Given the description of an element on the screen output the (x, y) to click on. 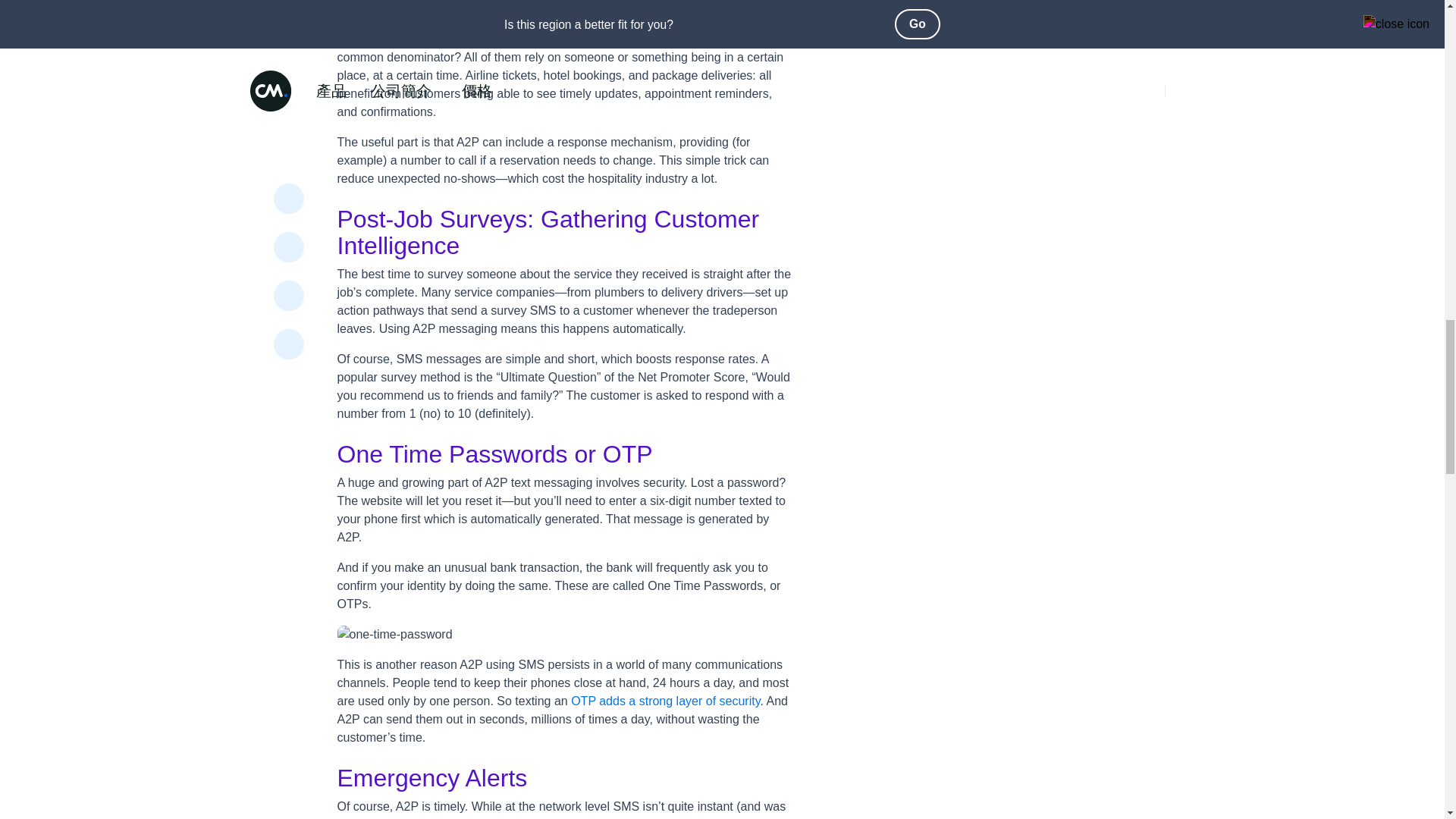
OTP adds a strong layer of security (665, 700)
